Given the description of an element on the screen output the (x, y) to click on. 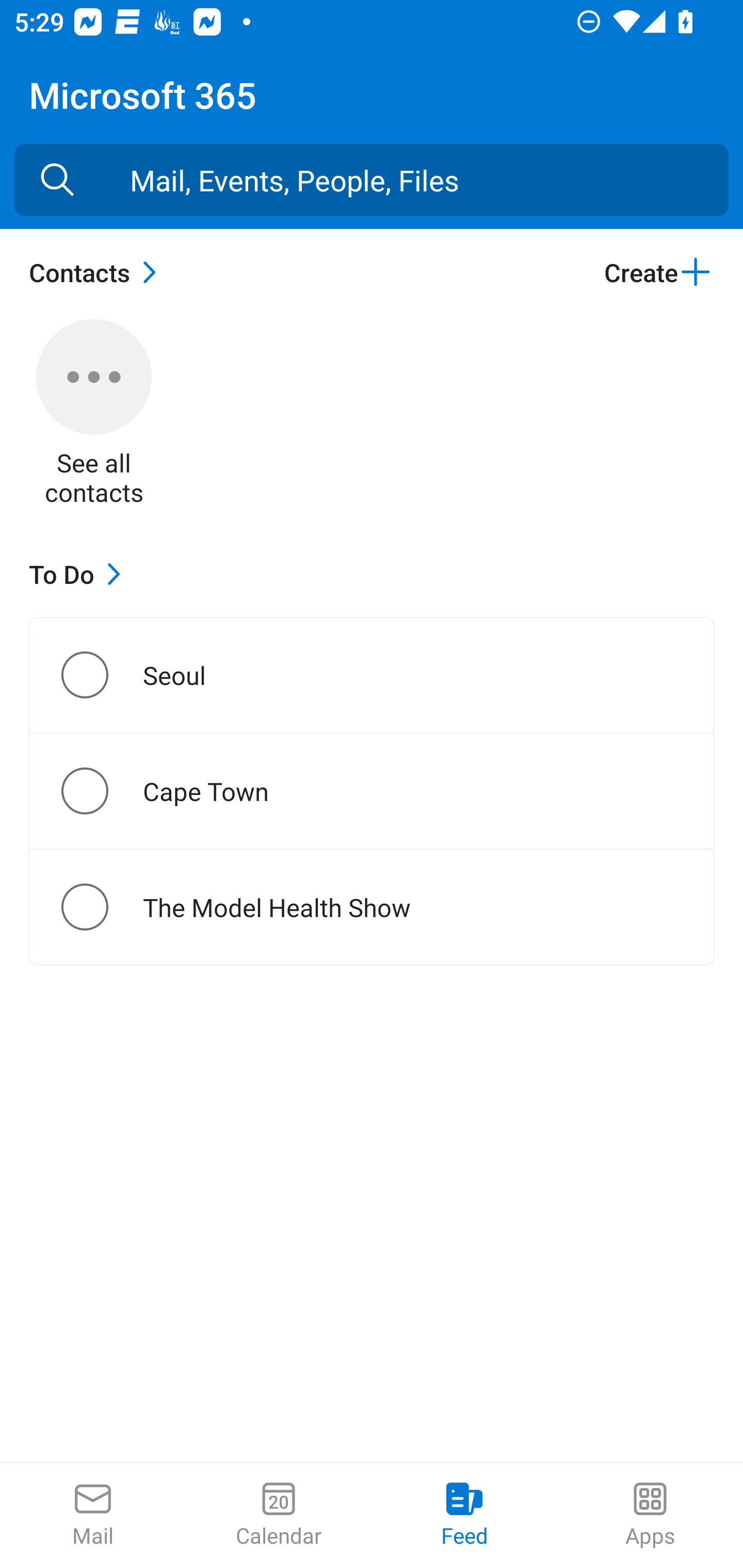
Search for Mail, Events, People, Files (57, 180)
Contacts (97, 271)
Create Create contact (658, 271)
See all contacts (93, 414)
To Do (79, 573)
Seoul Seoul Seoul. not completed (371, 674)
Seoul (101, 674)
Cape Town Cape Town Cape Town. not completed (371, 790)
Cape Town (101, 790)
The Model Health Show (101, 906)
Mail (92, 1515)
Calendar (278, 1515)
Apps (650, 1515)
